Given the description of an element on the screen output the (x, y) to click on. 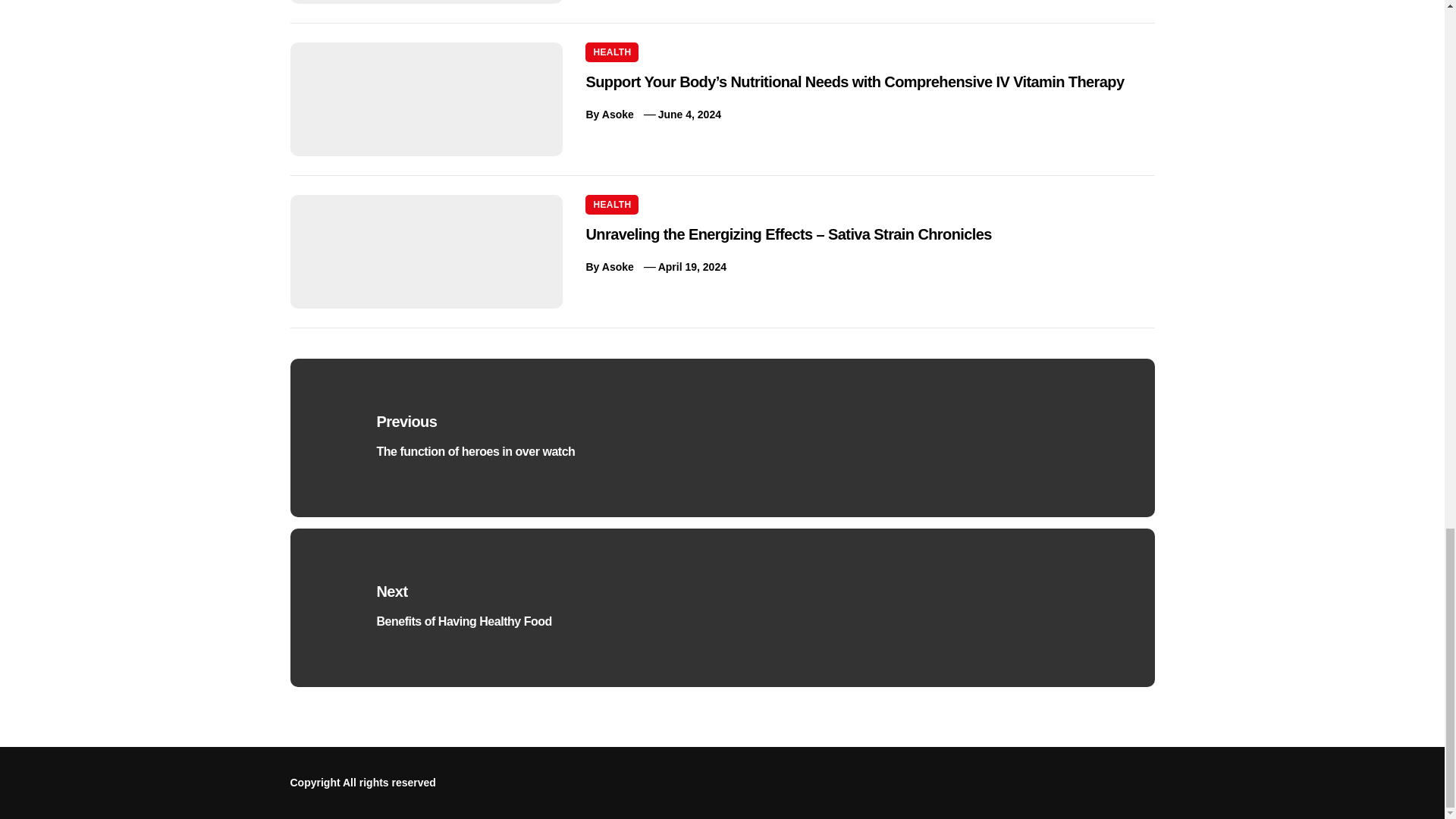
Asoke (617, 114)
HEALTH (612, 52)
